Given the description of an element on the screen output the (x, y) to click on. 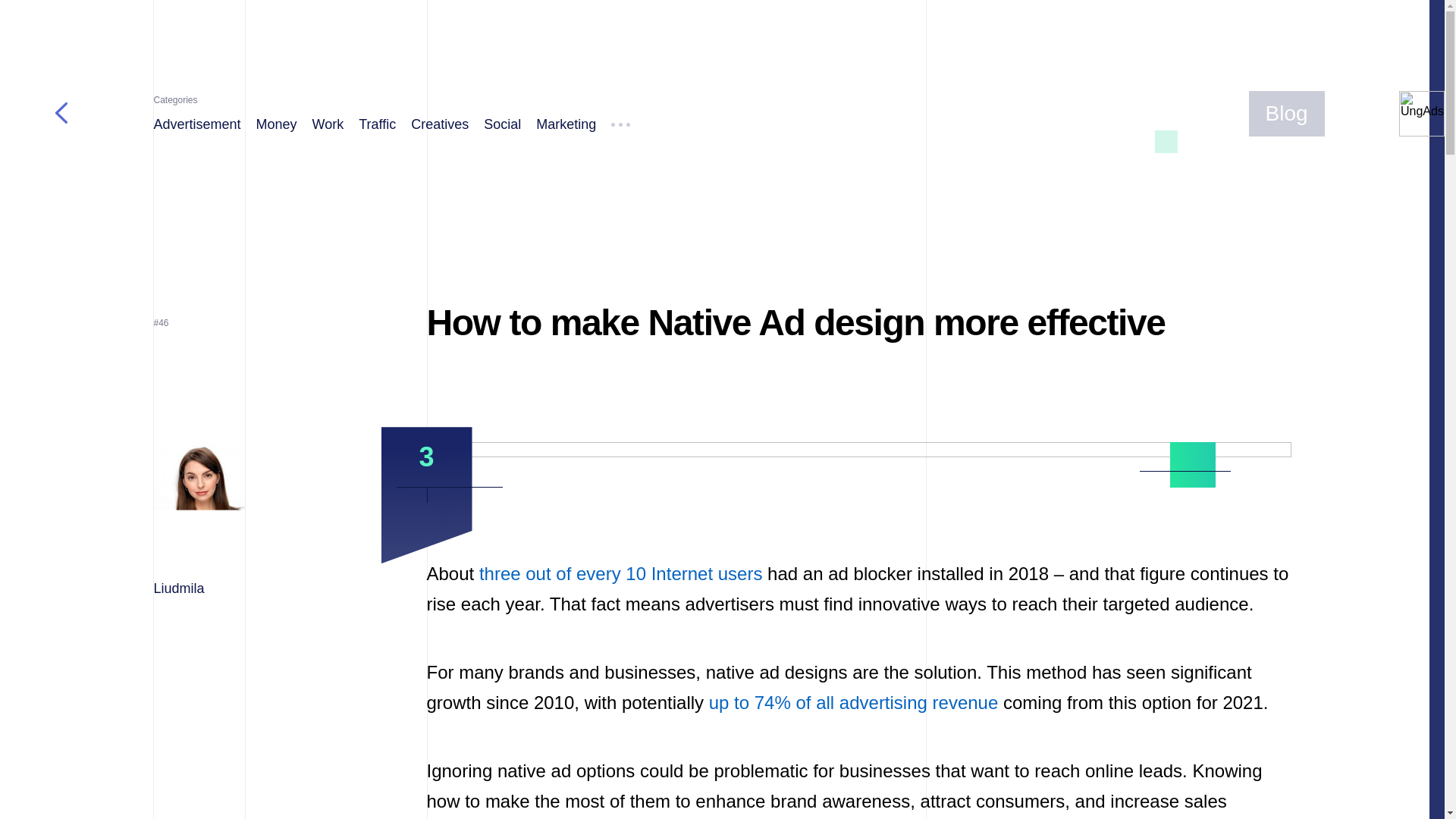
Creatives (439, 123)
three out of every 10 Internet users (620, 573)
Advertisement (196, 123)
Work (328, 123)
How to make Native Ad design more effective (795, 322)
Marketing (565, 123)
Social (502, 123)
Traffic (377, 123)
Money (276, 123)
